Given the description of an element on the screen output the (x, y) to click on. 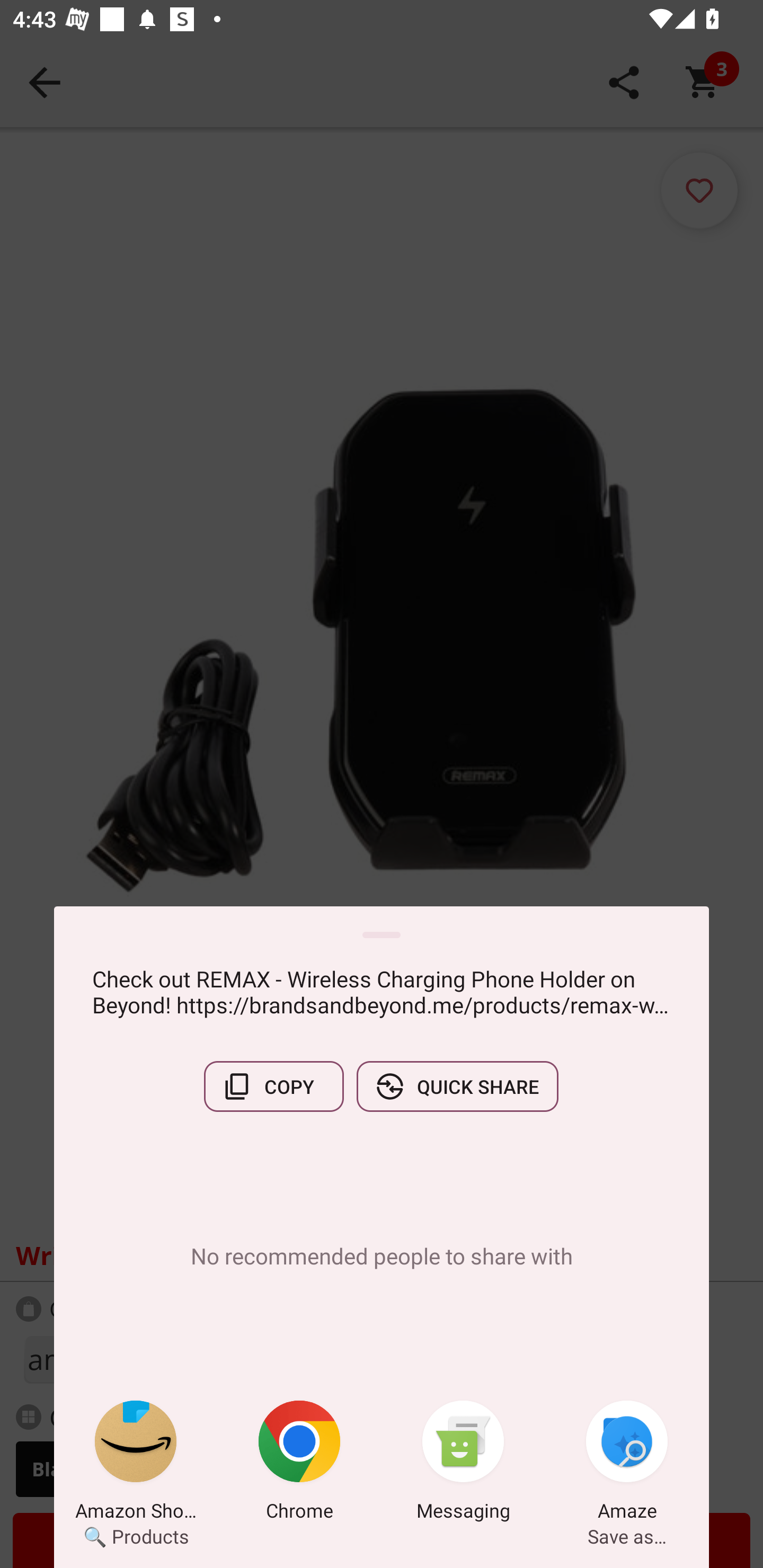
COPY (273, 1086)
QUICK SHARE (457, 1086)
Amazon Shopping 🔍 Products (135, 1463)
Chrome (299, 1463)
Messaging (463, 1463)
Amaze Save as… (626, 1463)
